Given the description of an element on the screen output the (x, y) to click on. 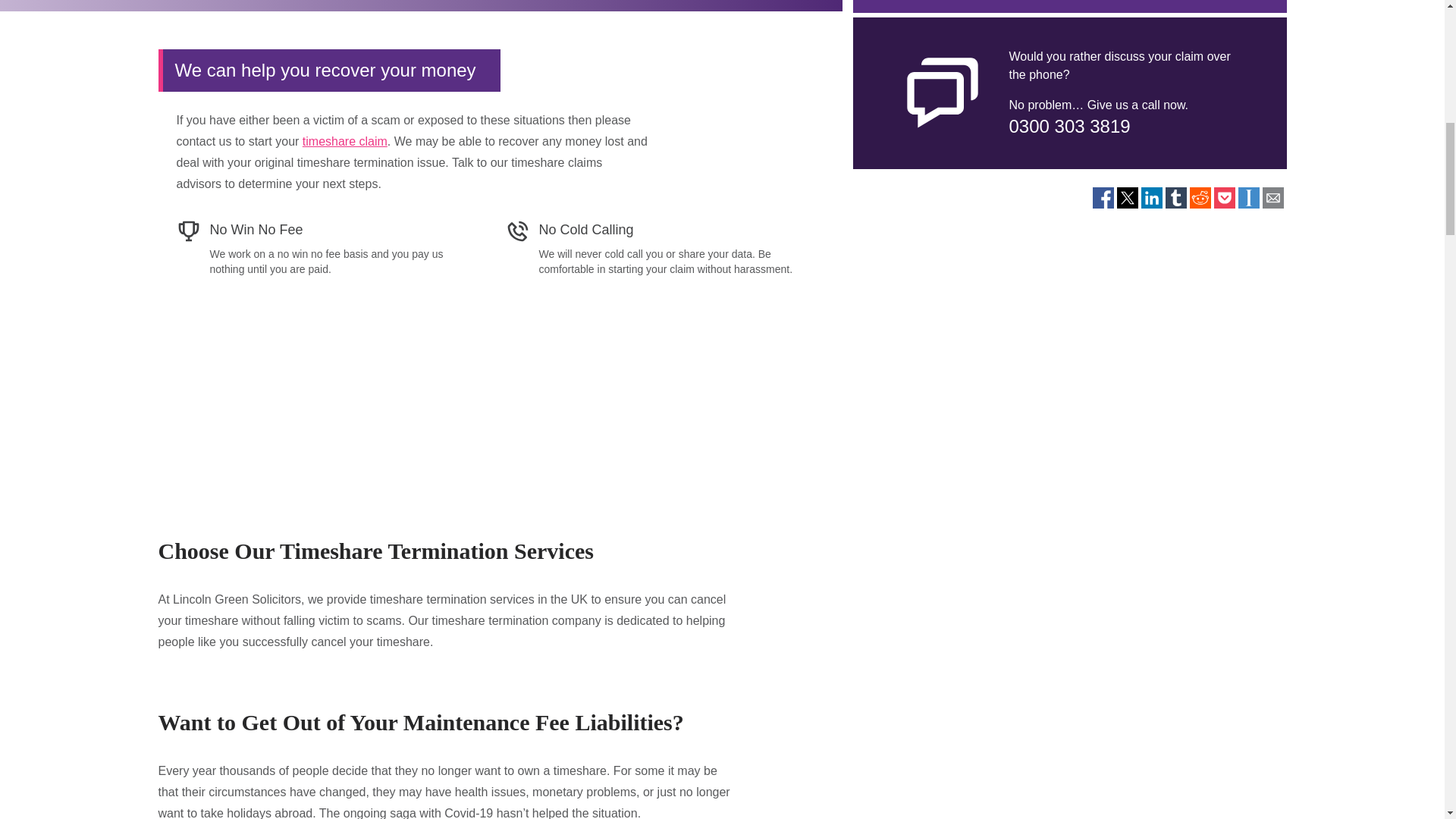
Share on Facebook (1102, 197)
Share on Tumblr (1175, 197)
0300 303 3819 (1069, 126)
Share via Facebook (1102, 197)
Share on Reddit (1199, 197)
Share on InstaPaper (1248, 197)
Share on Pocket (1223, 197)
Share on LinkedIn (1150, 197)
Share on X (1126, 197)
Share on Email (1272, 197)
Share via X (1126, 197)
